Given the description of an element on the screen output the (x, y) to click on. 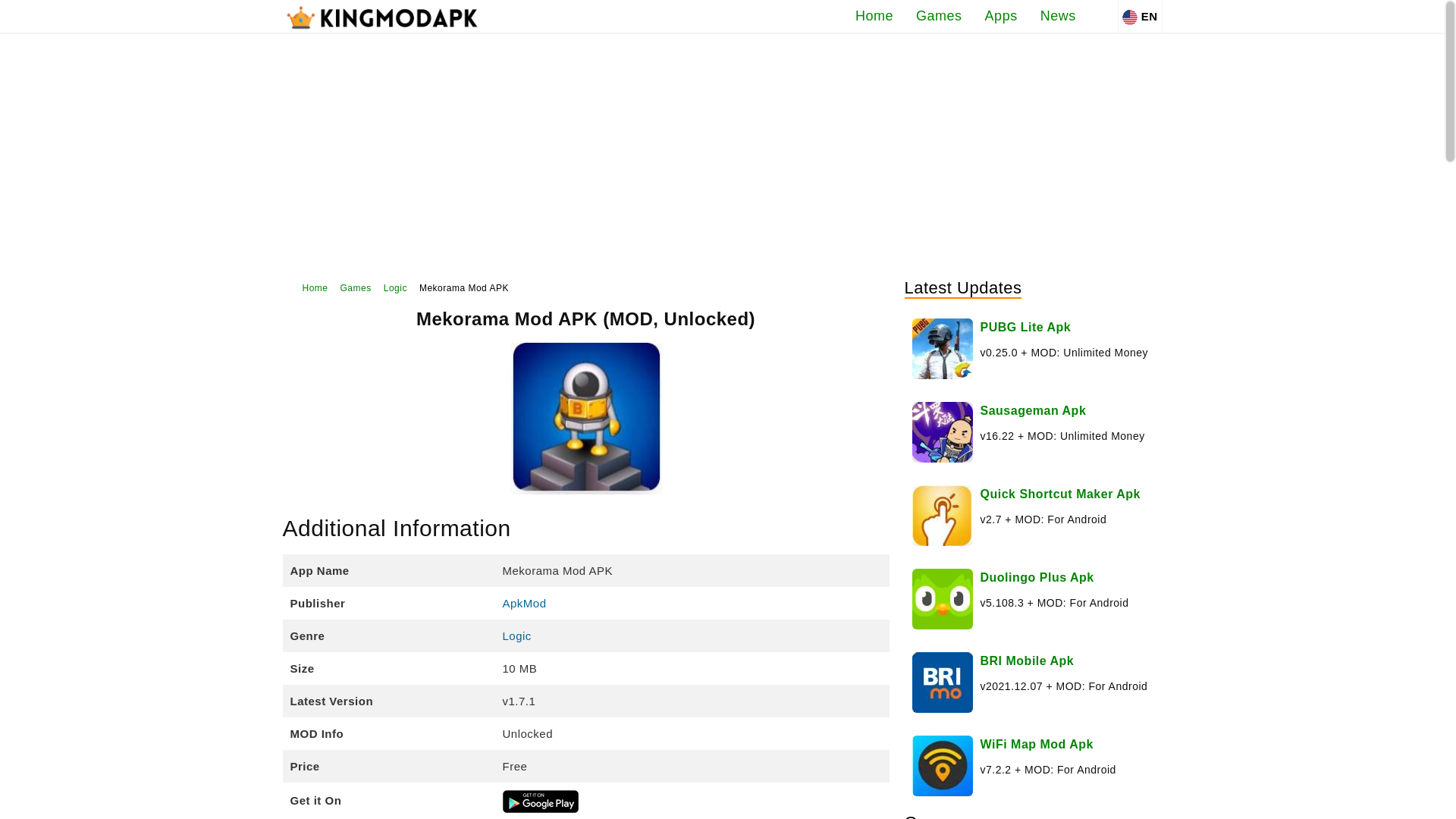
Apps (1001, 16)
Home (308, 287)
Mekorama Mod APK (463, 287)
Games (355, 287)
Logic (395, 287)
Home (874, 16)
Games (939, 16)
News (1058, 16)
Logic (516, 635)
ApkMod (524, 603)
